Given the description of an element on the screen output the (x, y) to click on. 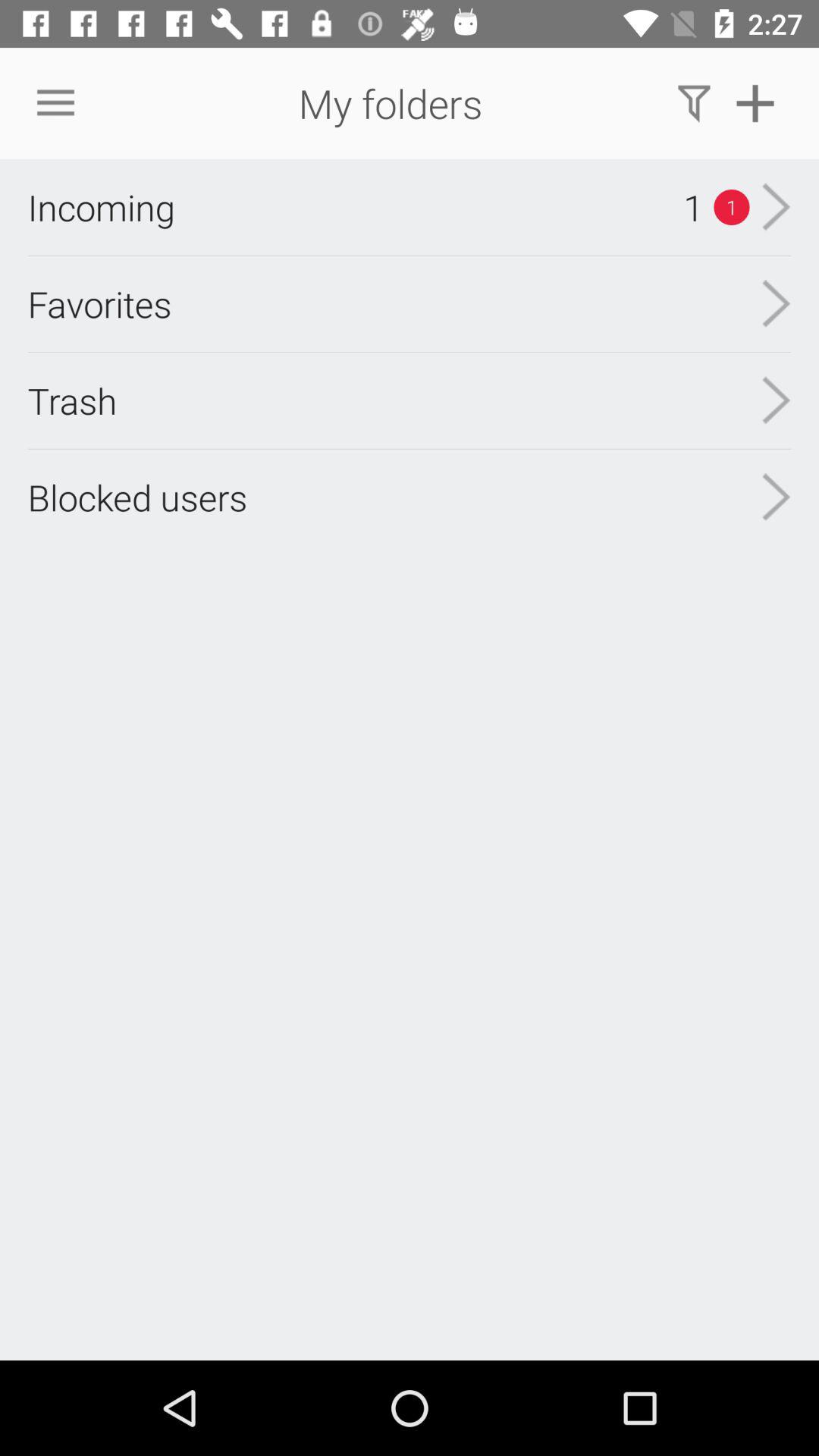
turn off icon to the right of blocked users icon (776, 497)
